Given the description of an element on the screen output the (x, y) to click on. 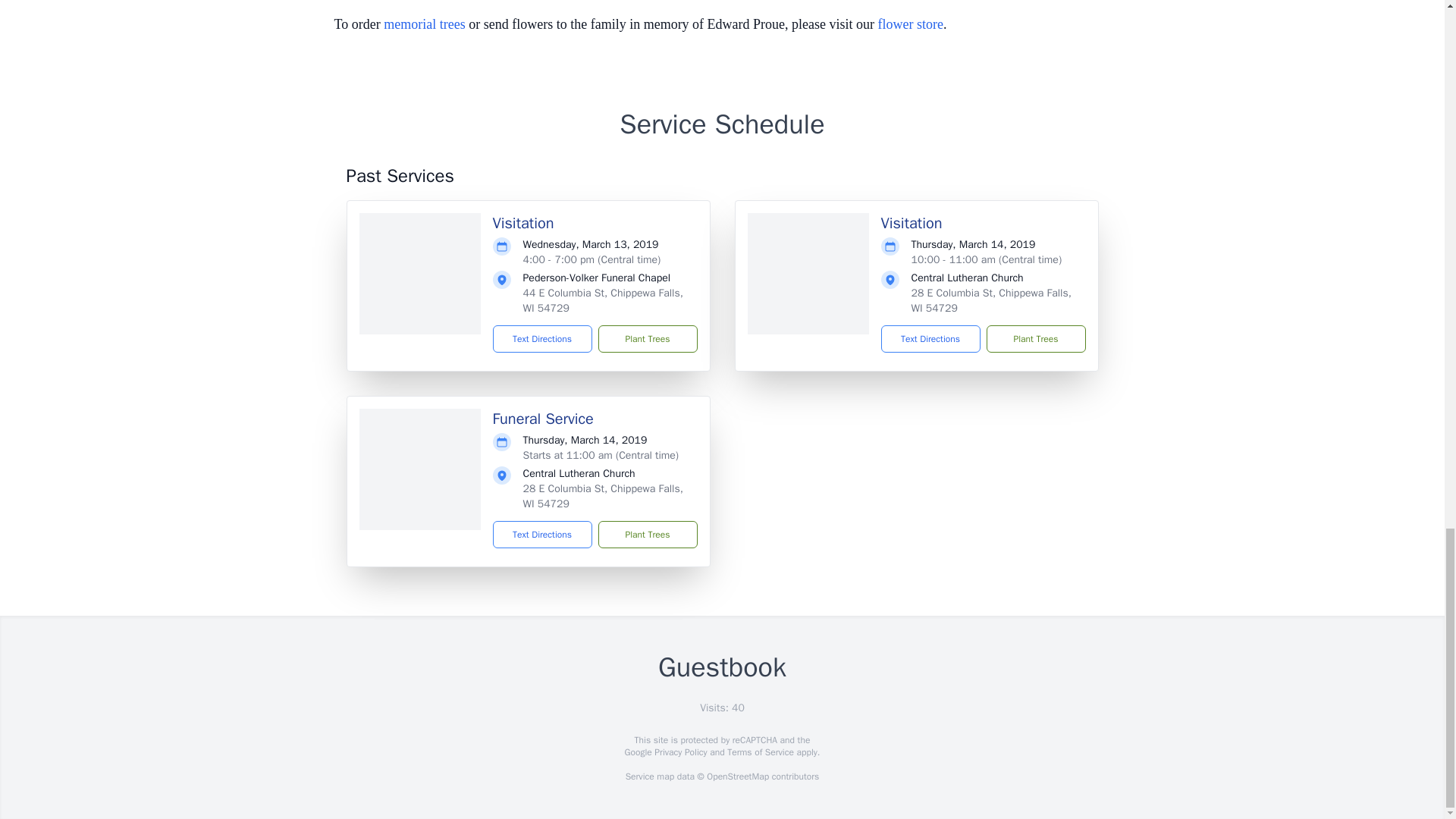
Text Directions (542, 533)
Text Directions (929, 338)
28 E Columbia St, Chippewa Falls, WI 54729 (602, 496)
Plant Trees (646, 533)
Terms of Service (759, 752)
OpenStreetMap (737, 776)
flower store (910, 23)
memorial trees (424, 23)
44 E Columbia St, Chippewa Falls, WI 54729 (602, 300)
Text Directions (542, 338)
